Given the description of an element on the screen output the (x, y) to click on. 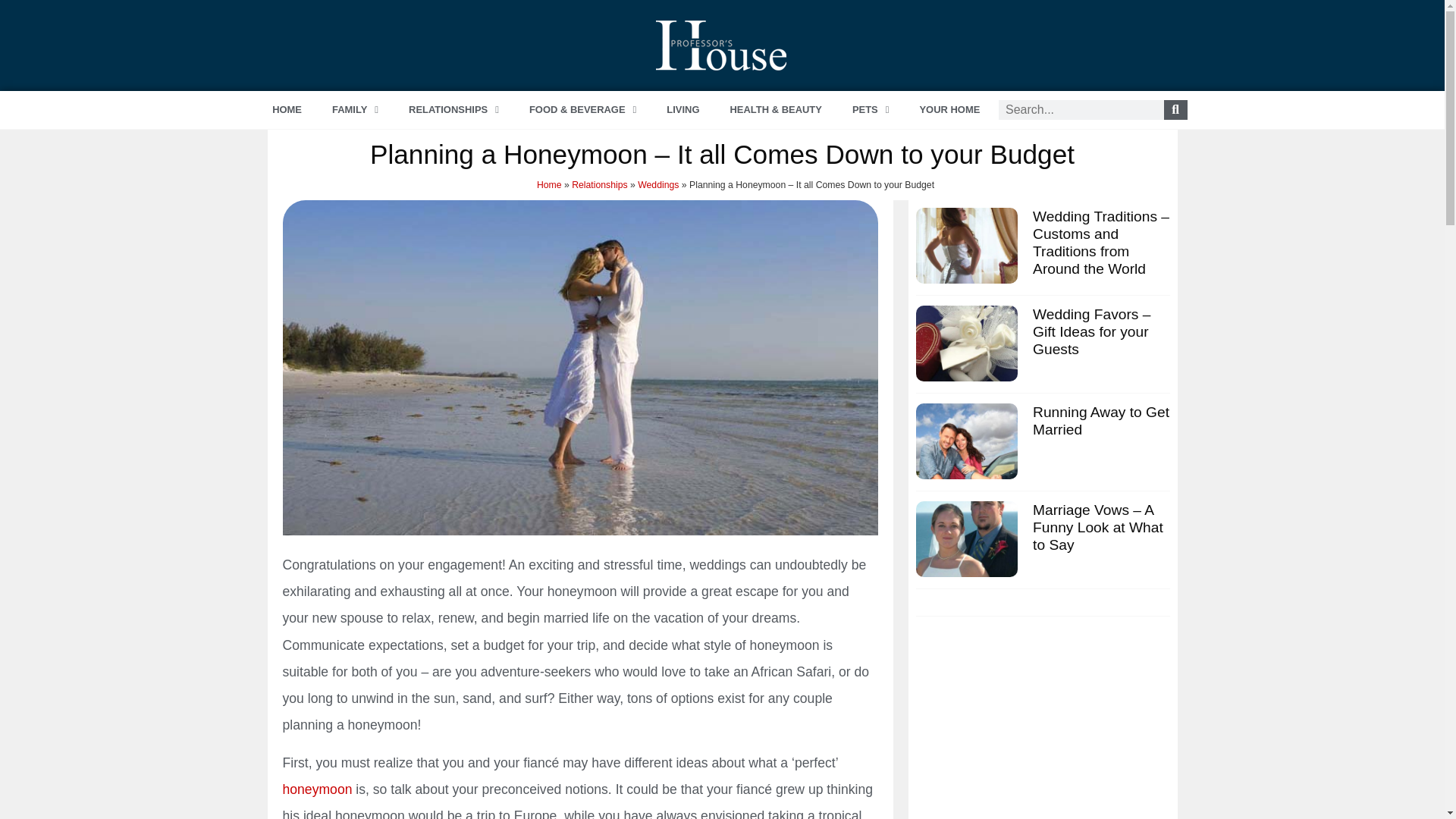
Planning a Honeymoon (317, 789)
HOME (287, 109)
RELATIONSHIPS (453, 109)
PETS (870, 109)
FAMILY (355, 109)
Family (355, 109)
LIVING (682, 109)
YOUR HOME (949, 109)
